Given the description of an element on the screen output the (x, y) to click on. 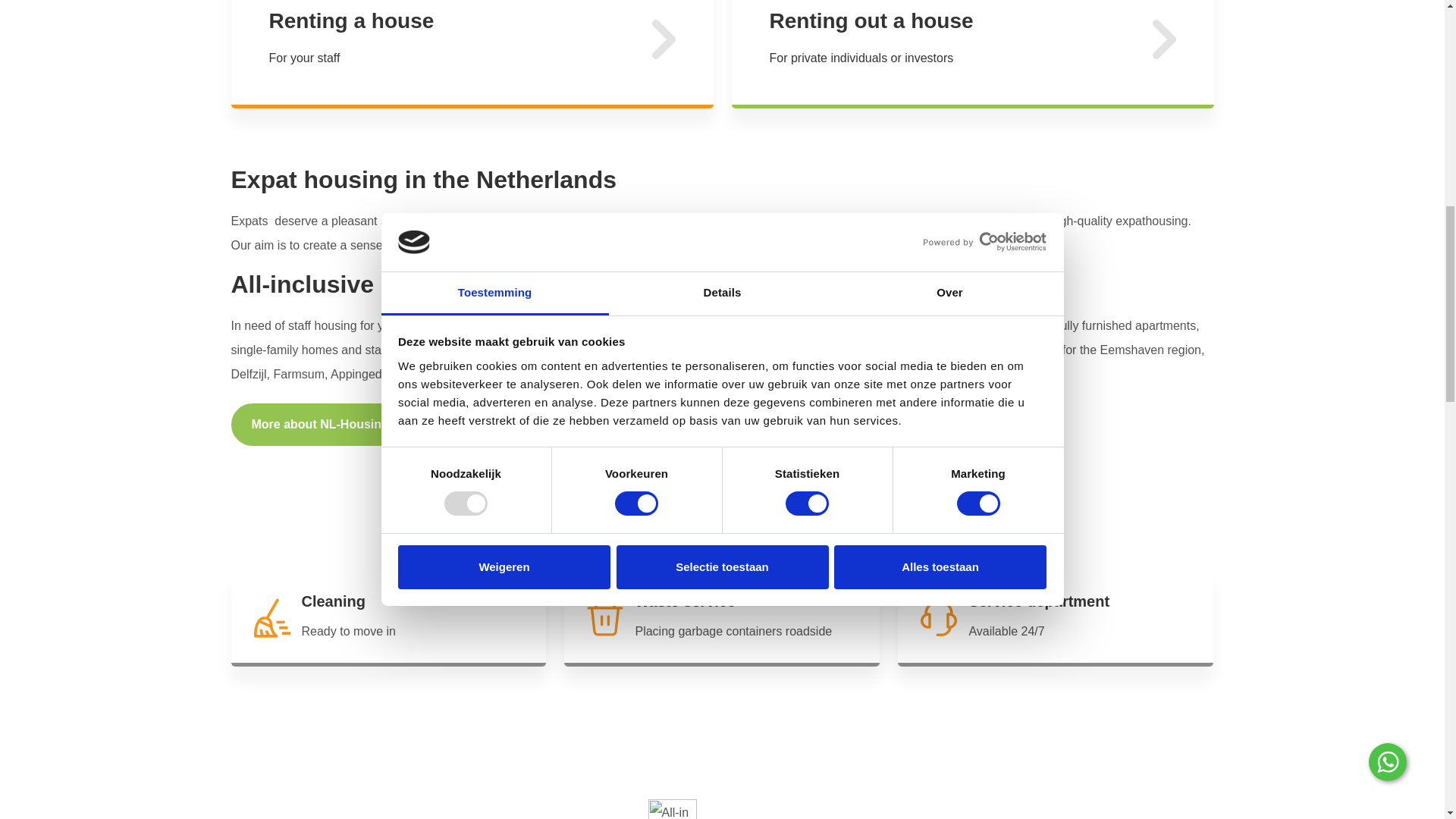
Meer informatie (471, 54)
Meer informatie (971, 54)
Over ons (328, 424)
